Given the description of an element on the screen output the (x, y) to click on. 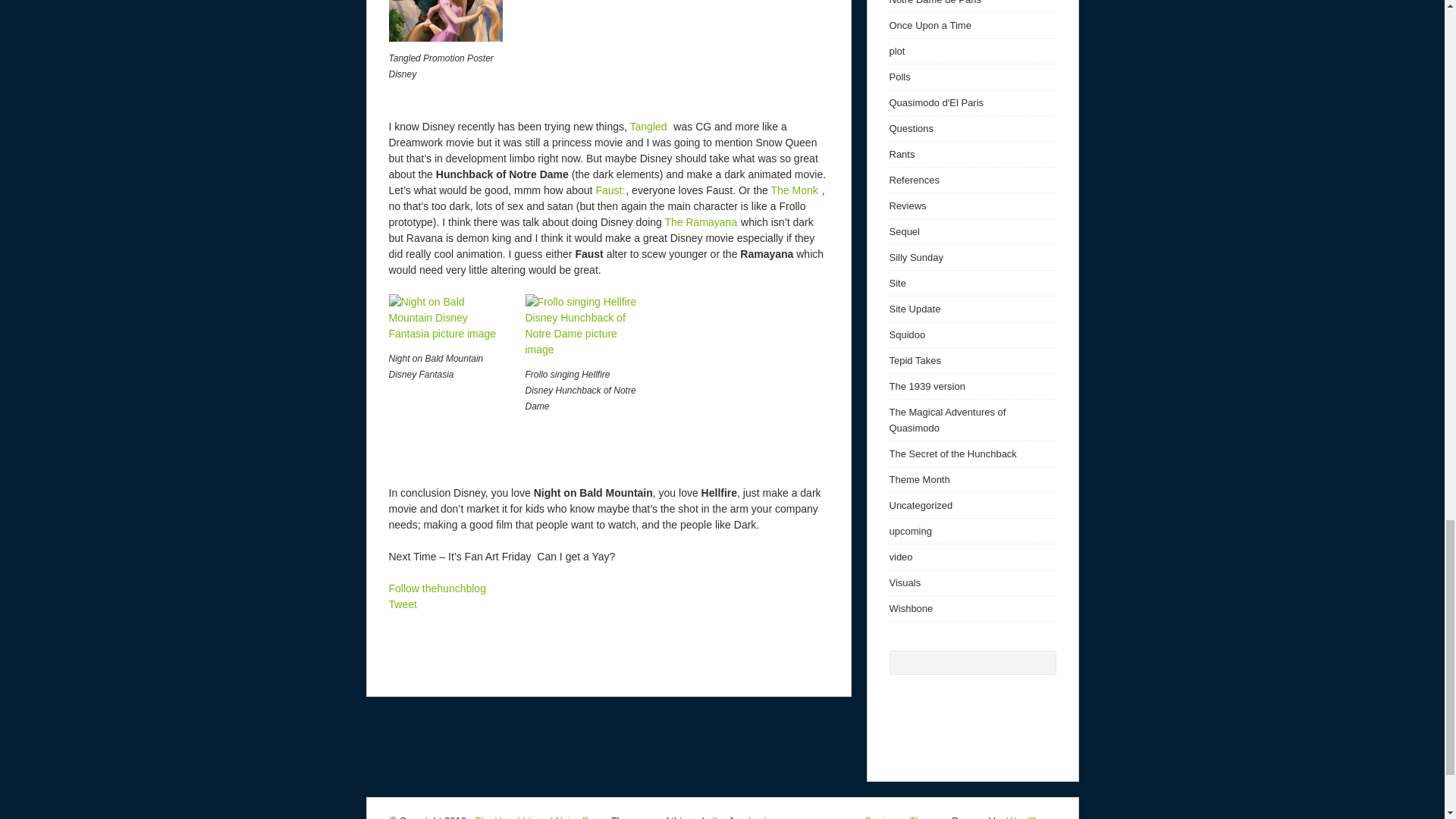
The Ramayana (699, 222)
Faust: (609, 190)
Follow thehunchblog (436, 588)
Night on Bald Mountain Disney Fantasia  (448, 318)
Tangled (649, 126)
Contango Theme (902, 816)
Frollo singing Hellfire Disney Hunchback of Notre Dame (585, 325)
Tangled Promotion Poster Disney (445, 20)
The Monk (795, 190)
Tweet (402, 604)
